Given the description of an element on the screen output the (x, y) to click on. 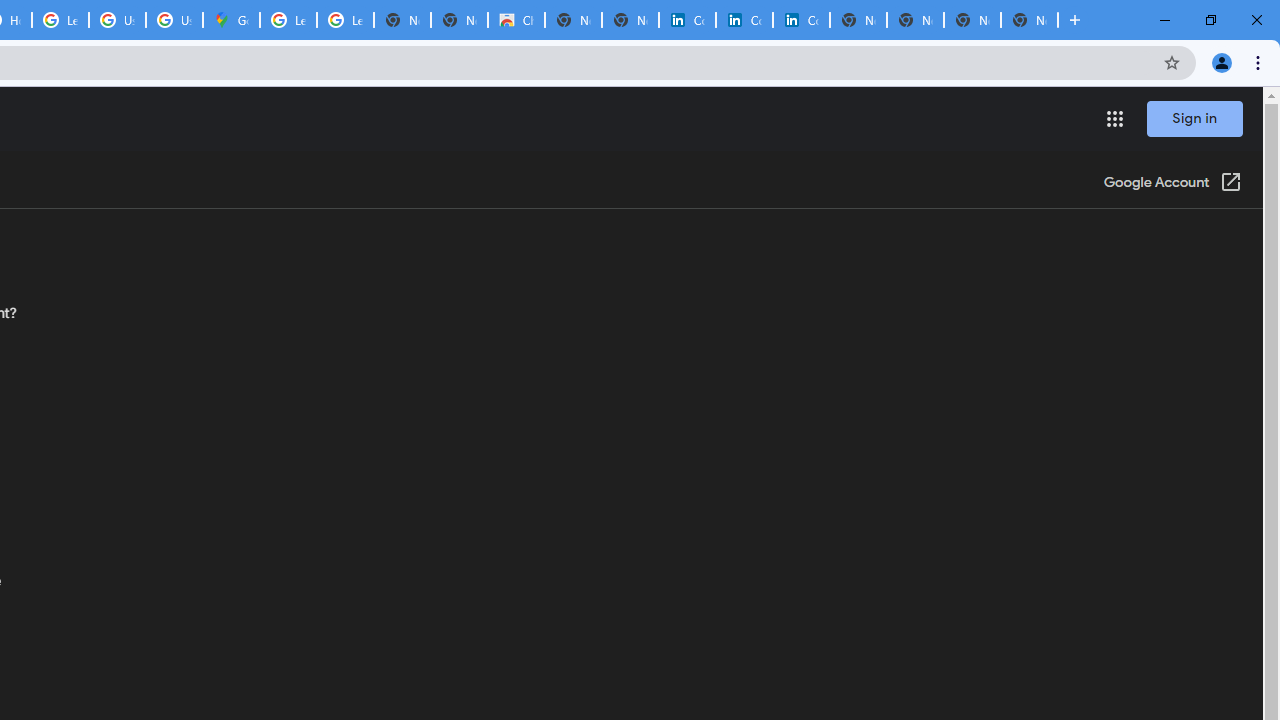
New Tab (1029, 20)
